Given the description of an element on the screen output the (x, y) to click on. 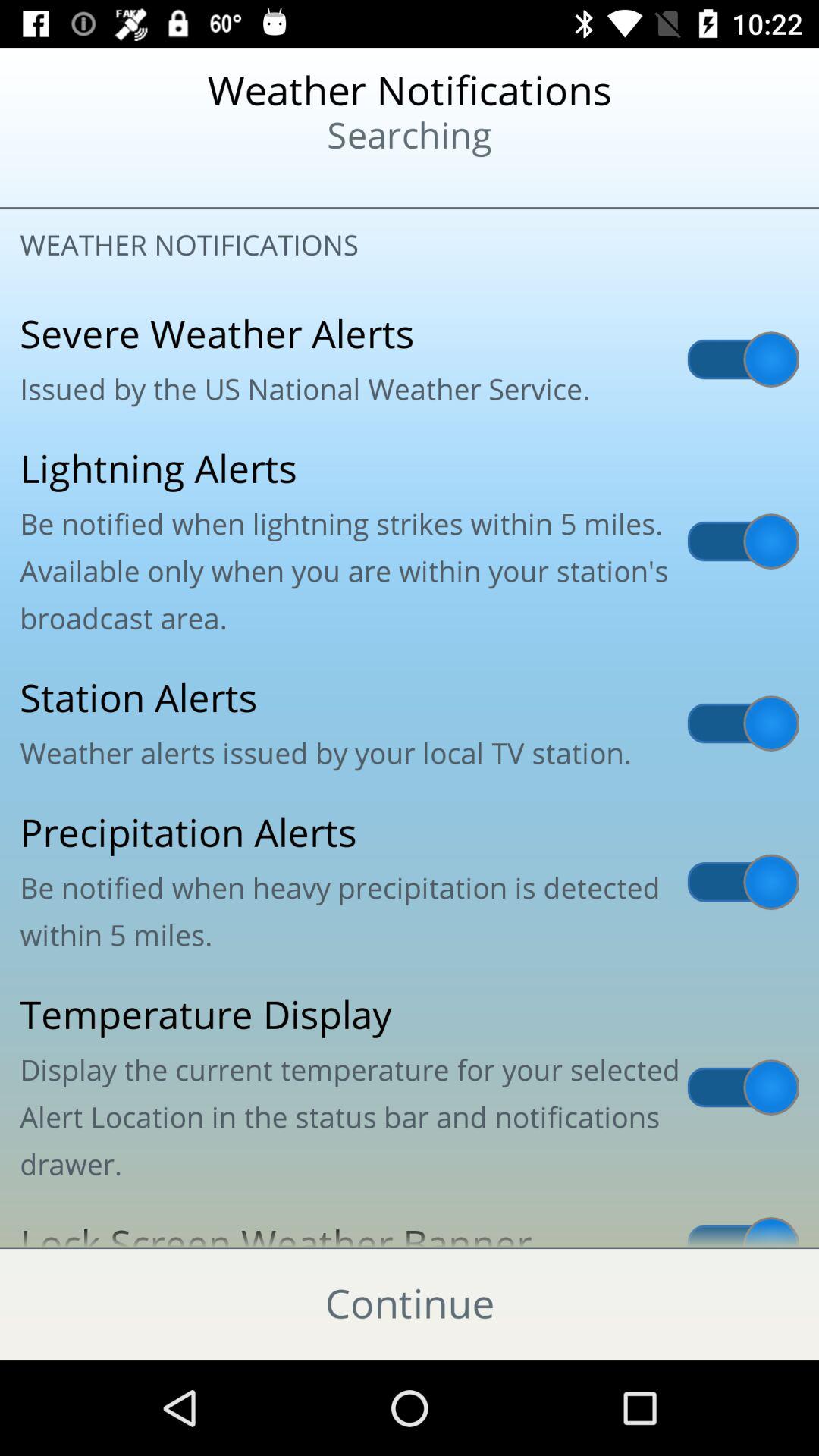
flip to lock screen weather icon (409, 1224)
